Given the description of an element on the screen output the (x, y) to click on. 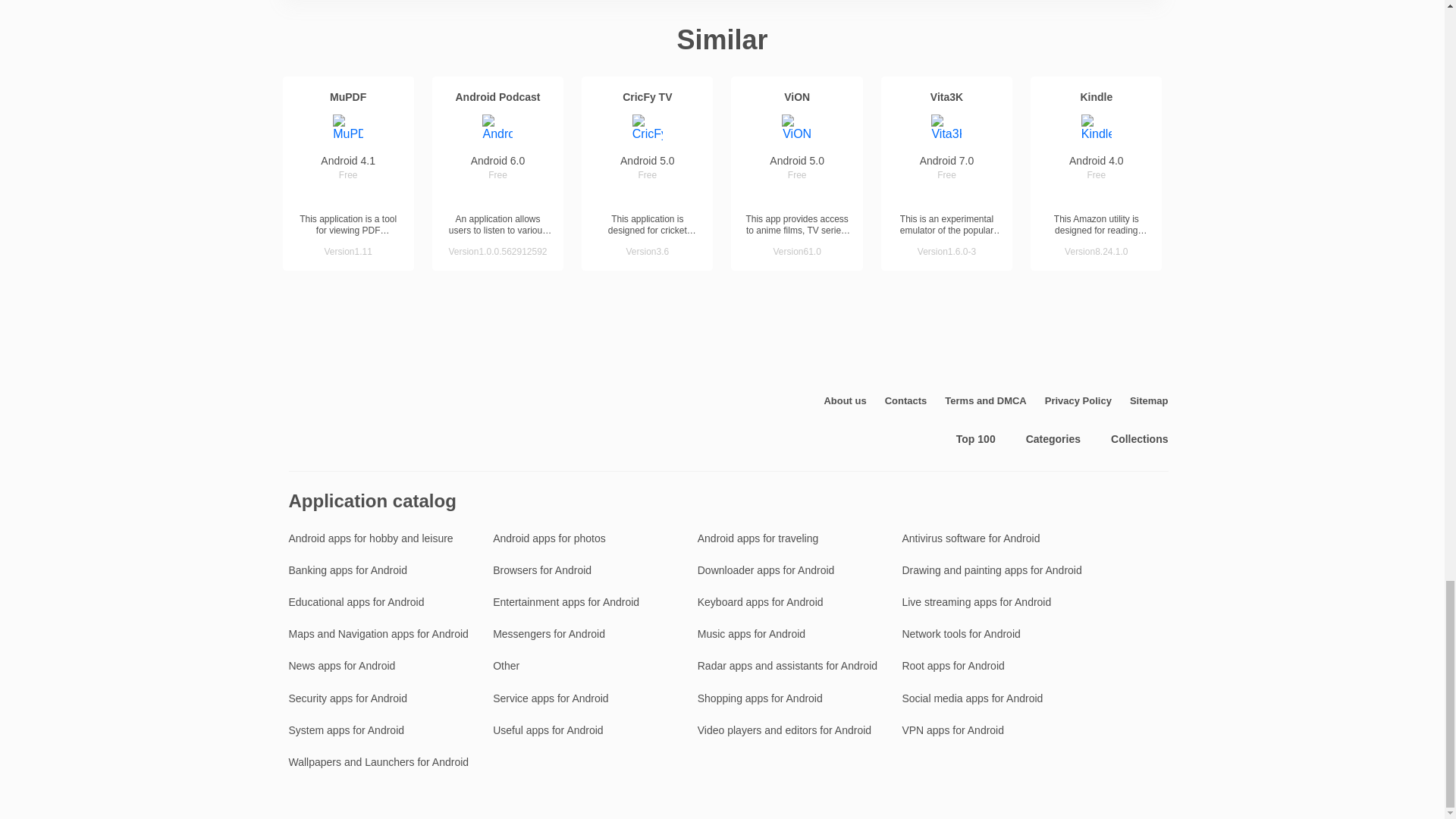
4 (363, 196)
1 (467, 196)
1 (616, 196)
2 (481, 196)
5 (528, 196)
MuPDF (348, 96)
1 (317, 196)
Android Podcast (497, 96)
4 (512, 196)
3 (347, 196)
